Given the description of an element on the screen output the (x, y) to click on. 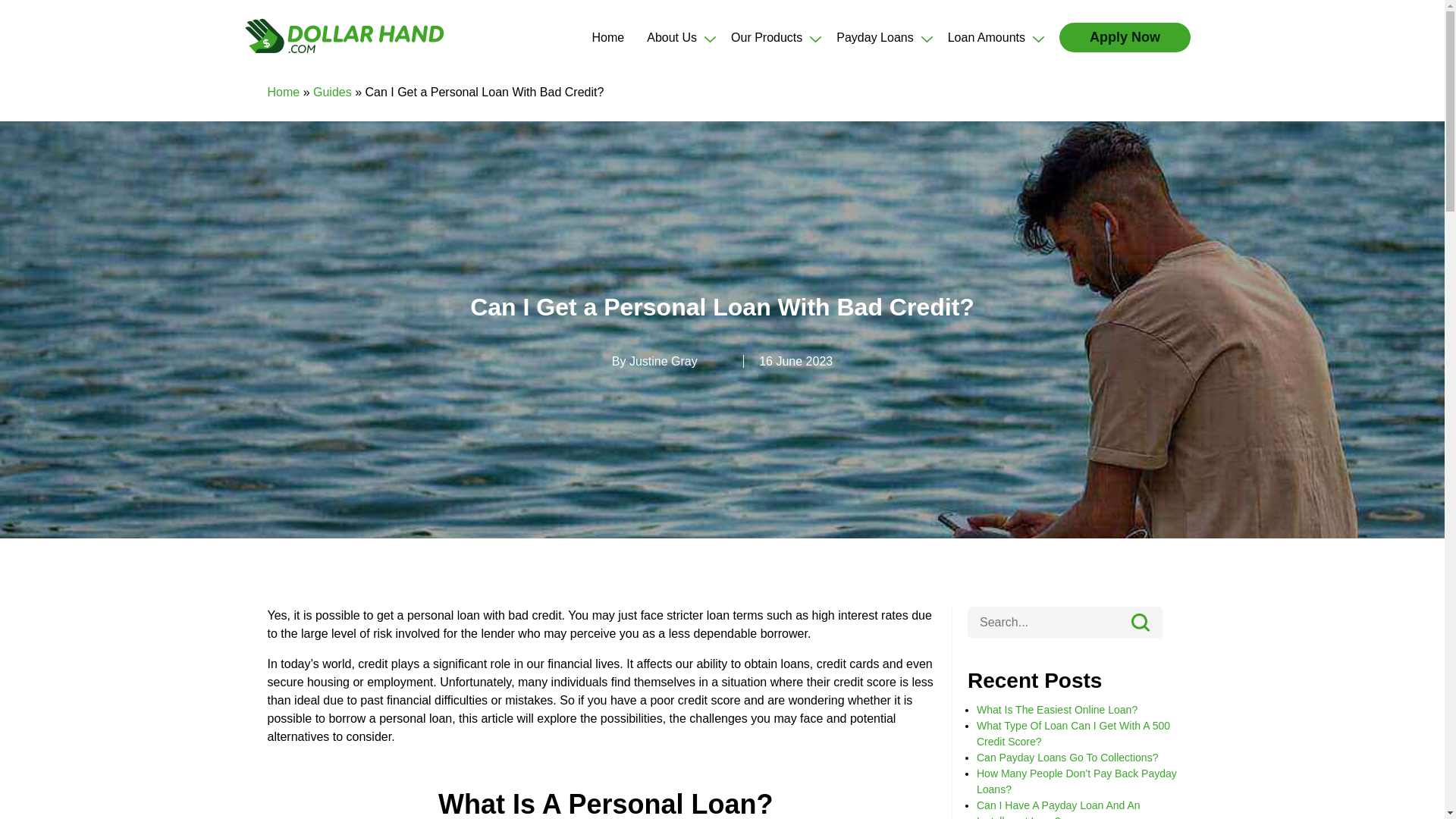
Payday Loans (873, 37)
Our Products (766, 37)
About Us (671, 37)
About Us (671, 37)
Our Products (766, 37)
Home (608, 37)
Home (608, 37)
